Given the description of an element on the screen output the (x, y) to click on. 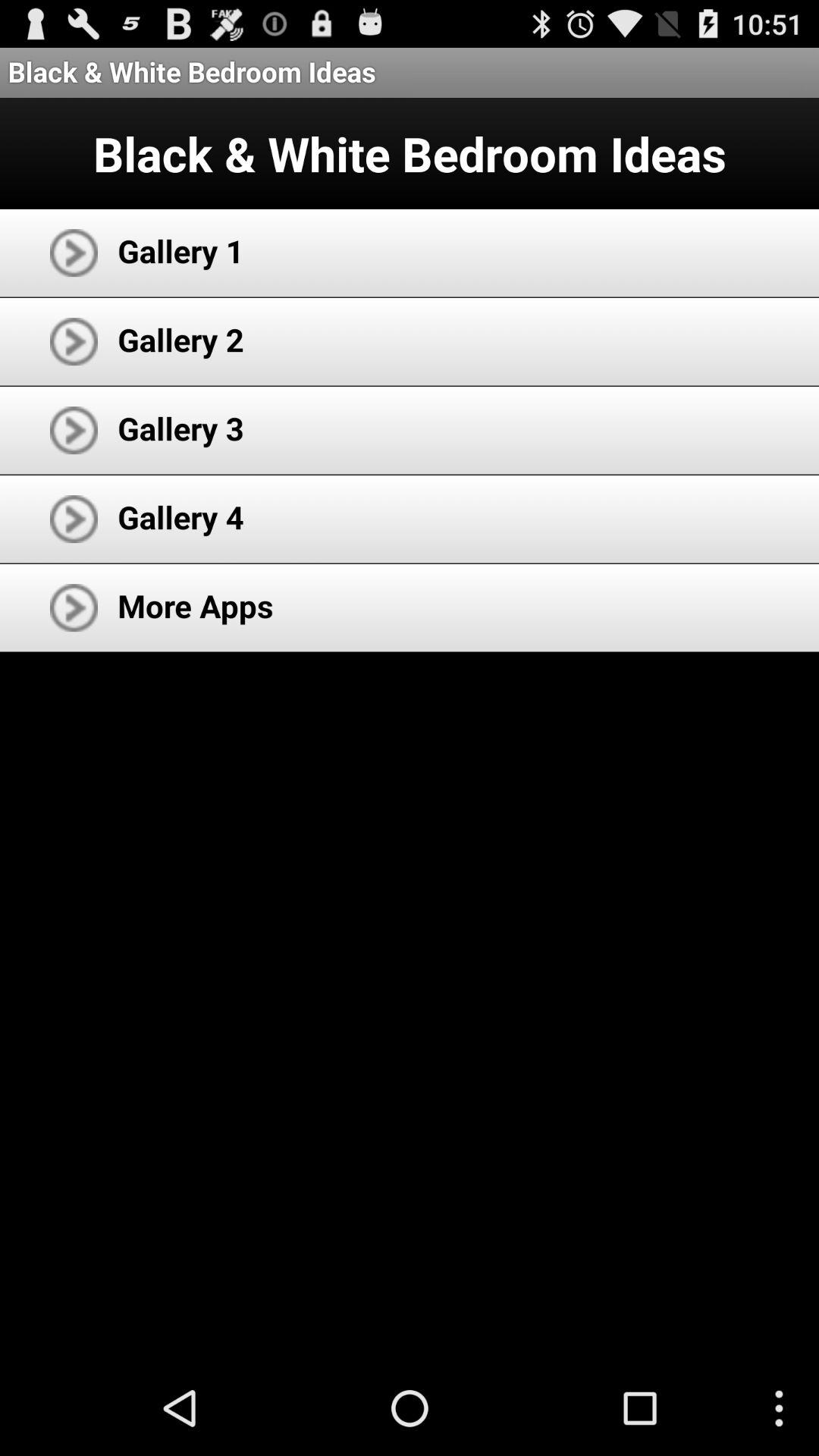
select item below the gallery 1 icon (180, 339)
